Given the description of an element on the screen output the (x, y) to click on. 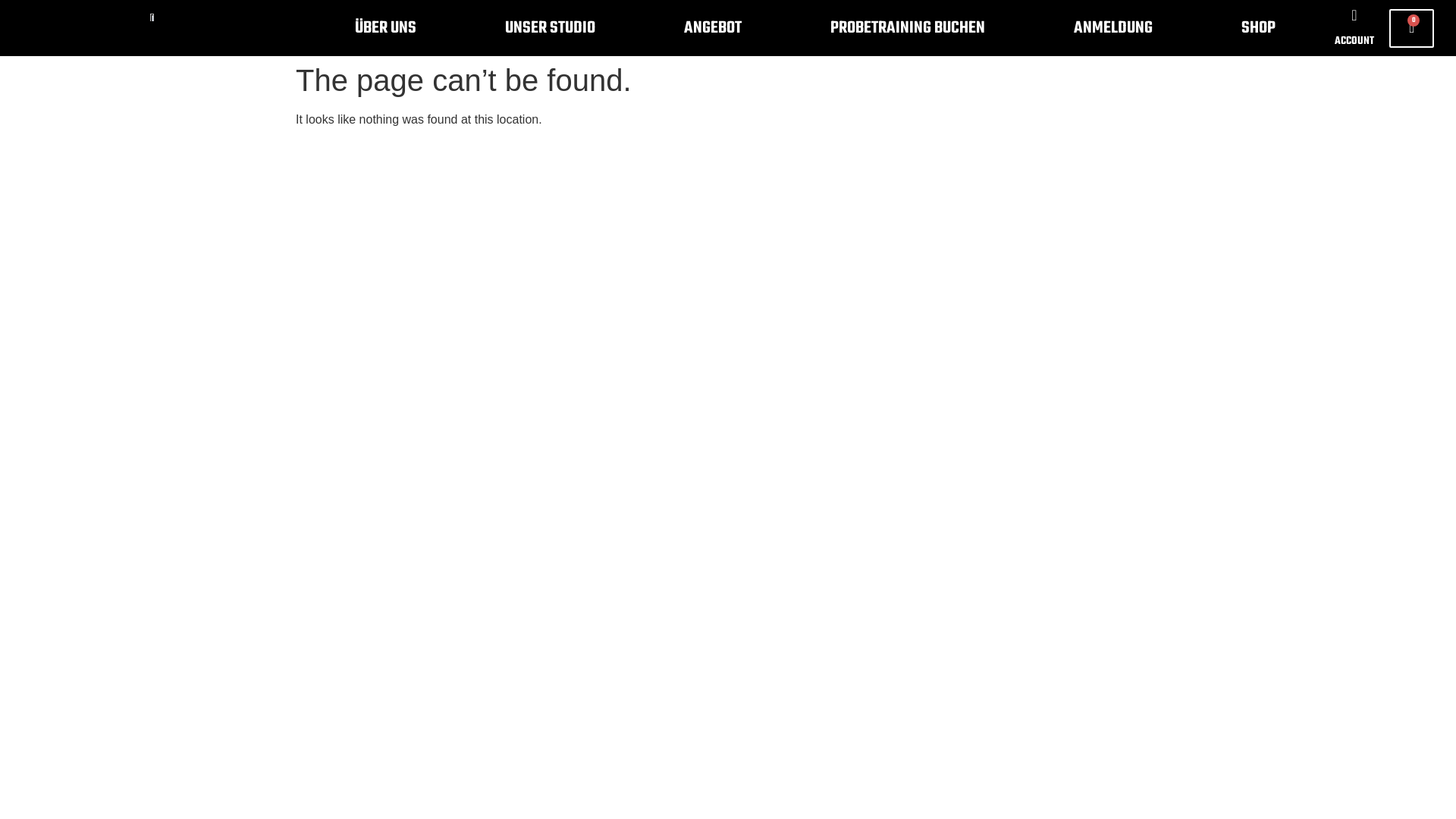
ACCOUNT Element type: text (1354, 41)
ANMELDUNG Element type: text (1112, 27)
PROBETRAINING BUCHEN Element type: text (907, 27)
0 Element type: text (1411, 28)
UNSER STUDIO Element type: text (550, 27)
ANGEBOT Element type: text (713, 27)
SHOP Element type: text (1257, 27)
